Given the description of an element on the screen output the (x, y) to click on. 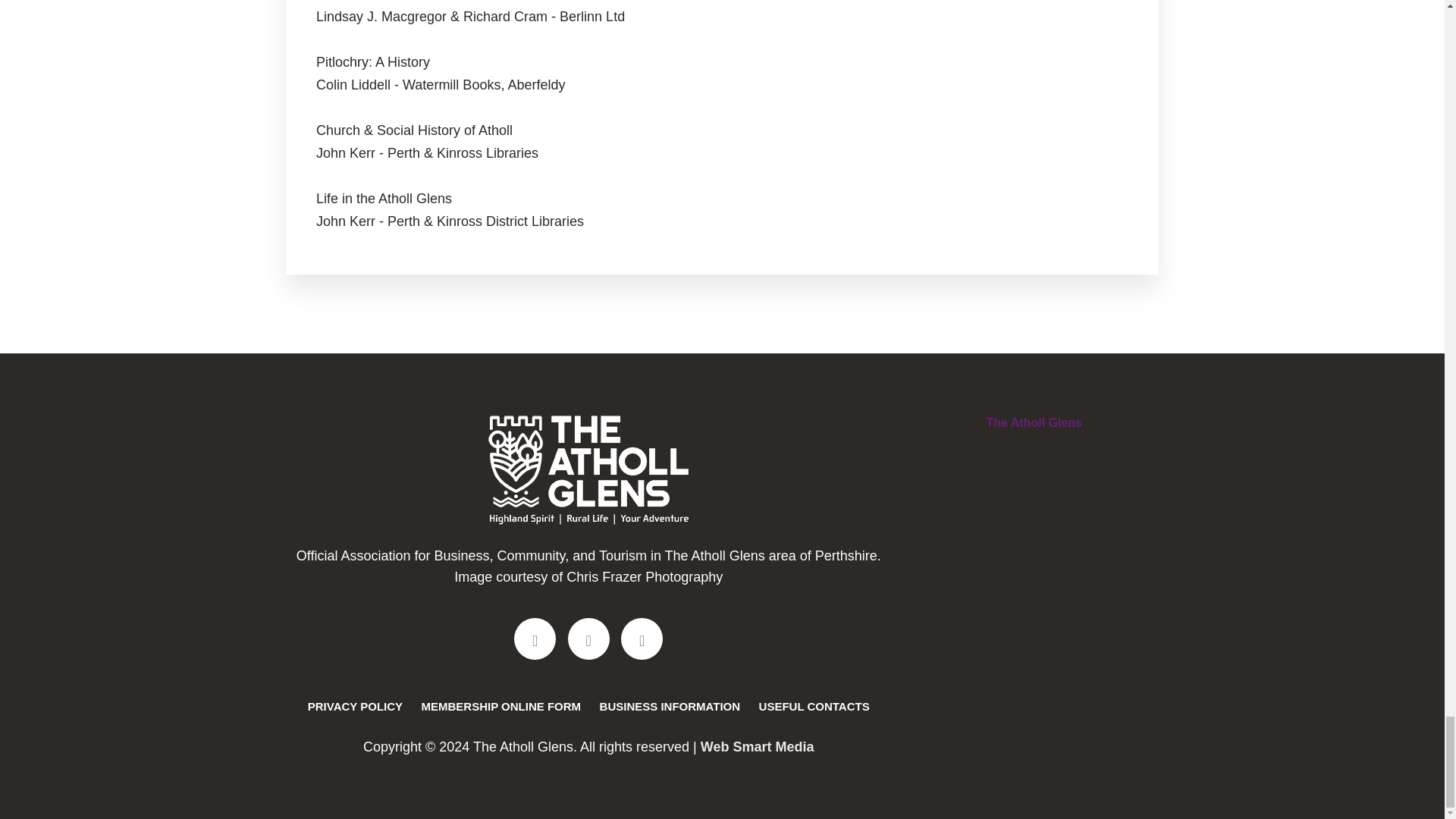
The Atholl Glens (1033, 422)
Web Smart Media (756, 746)
PRIVACY POLICY (355, 706)
MEMBERSHIP ONLINE FORM (501, 706)
USEFUL CONTACTS (813, 706)
BUSINESS INFORMATION (670, 706)
